Given the description of an element on the screen output the (x, y) to click on. 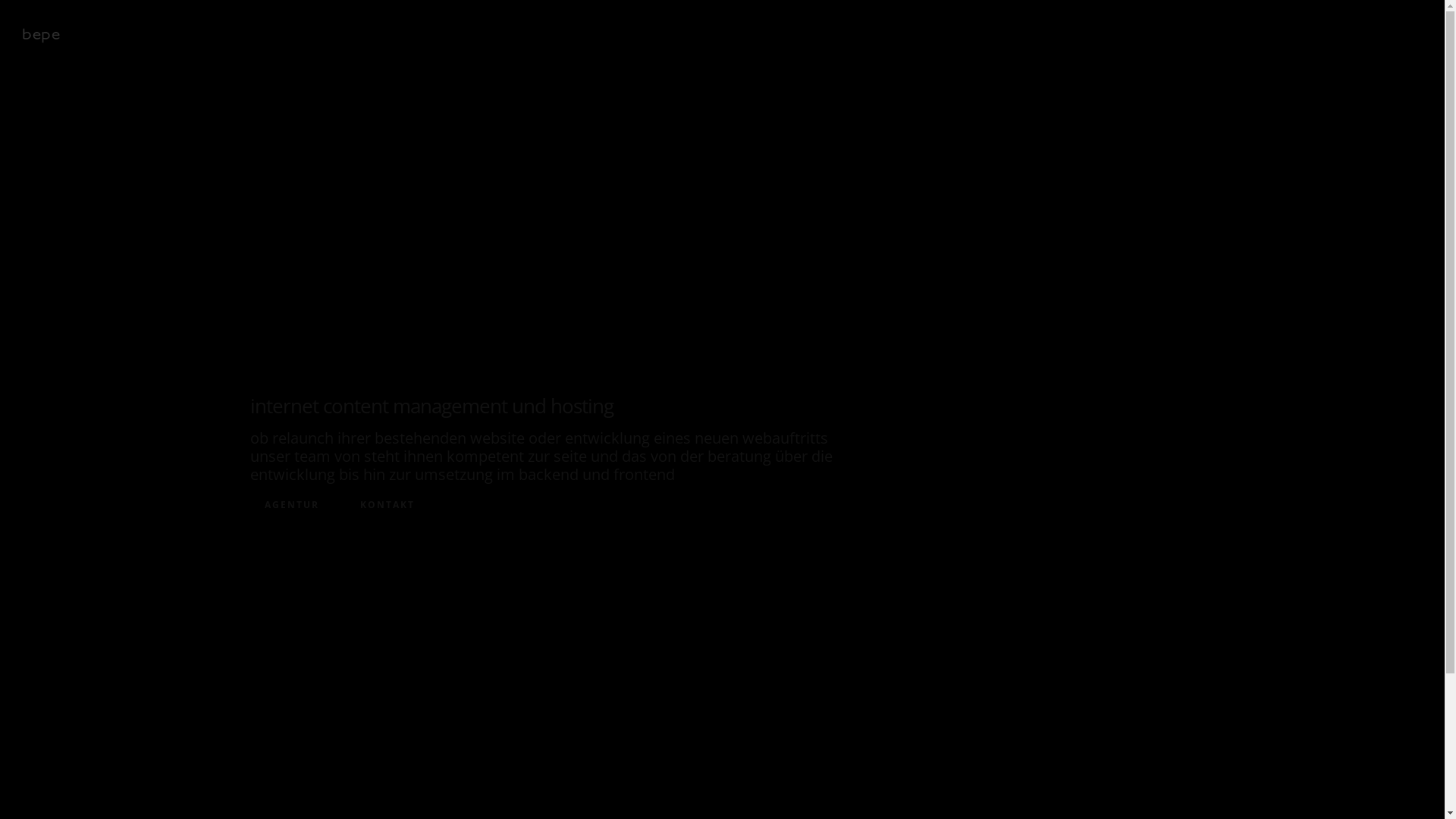
KONTAKT Element type: text (387, 504)
AGENTUR Element type: text (291, 504)
Menu Element type: text (1410, 32)
